Given the description of an element on the screen output the (x, y) to click on. 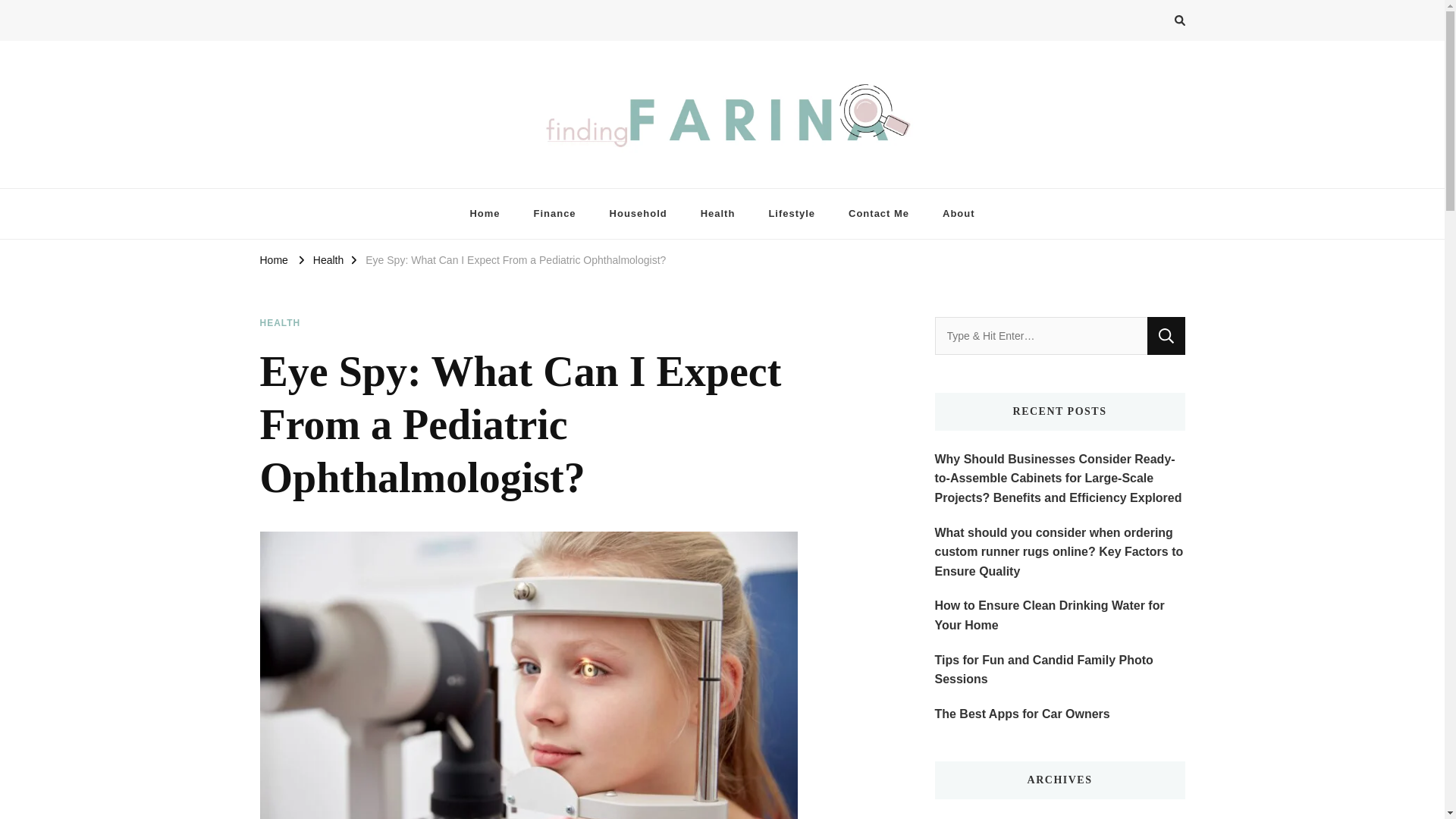
How to Ensure Clean Drinking Water for Your Home (1059, 615)
JULY 2024 (963, 818)
Health (328, 259)
Lifestyle (791, 214)
Health (718, 214)
Search (1166, 335)
HEALTH (279, 323)
Finding Farina (332, 179)
Home (272, 259)
Search (1166, 335)
Search (1166, 335)
Search (1152, 22)
About (958, 214)
